Given the description of an element on the screen output the (x, y) to click on. 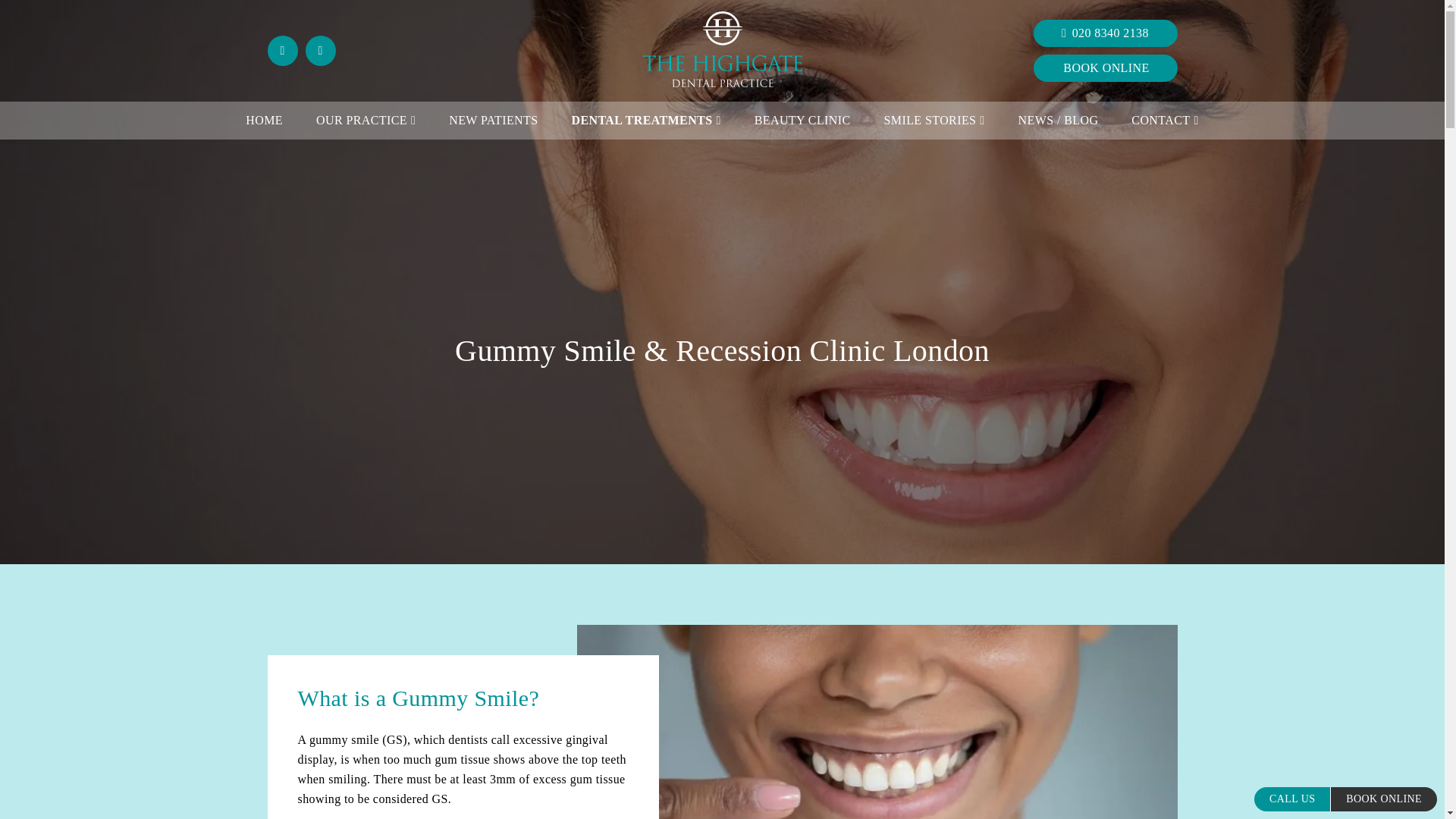
DENTAL TREATMENTS (646, 120)
020 8340 2138 (1104, 32)
NEW PATIENTS (493, 120)
Highgate Dental Practice (722, 82)
BEAUTY CLINIC (802, 120)
OUR PRACTICE (365, 120)
BOOK ONLINE (1104, 67)
HOME (263, 120)
